Given the description of an element on the screen output the (x, y) to click on. 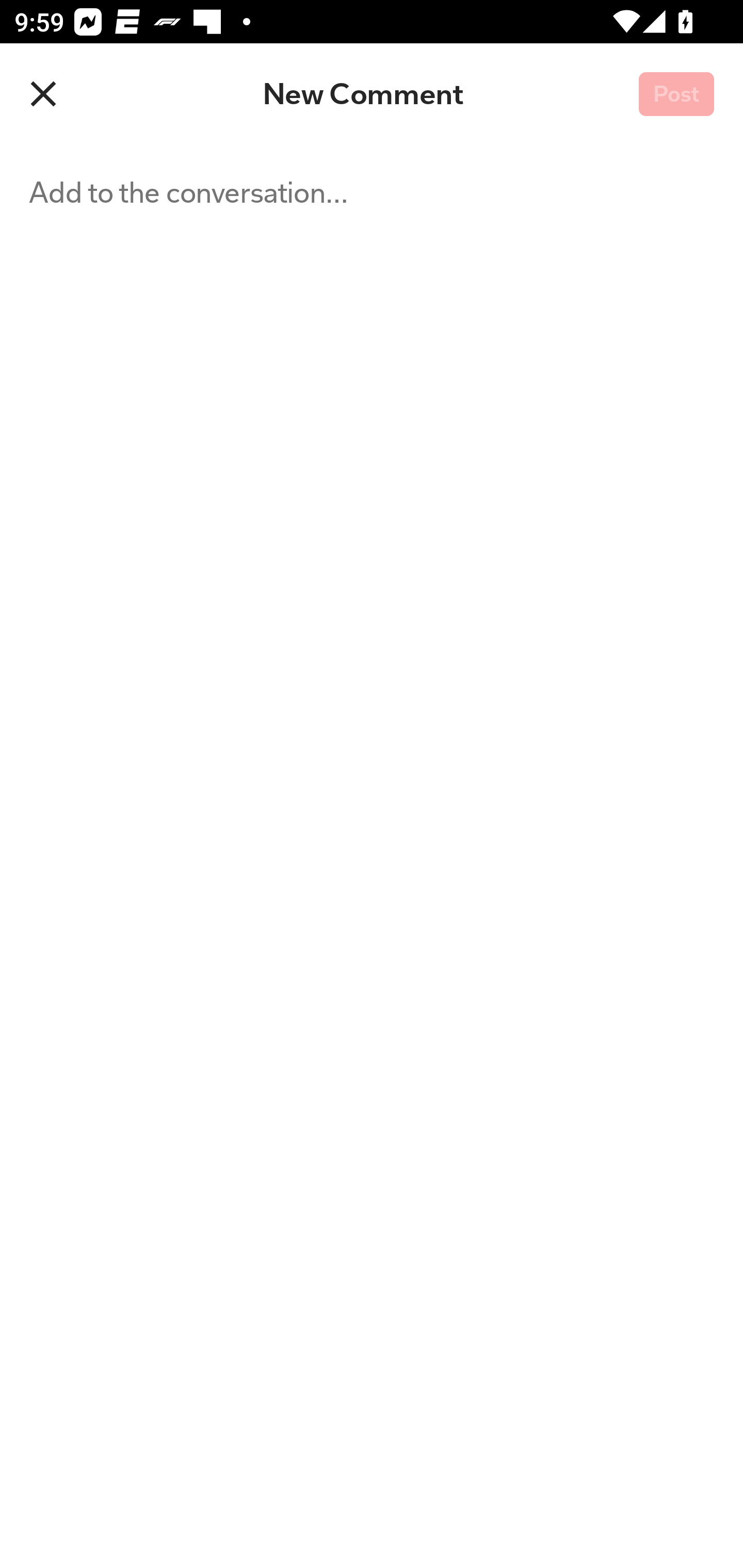
Post (676, 94)
Add to the conversation… (252, 856)
